Given the description of an element on the screen output the (x, y) to click on. 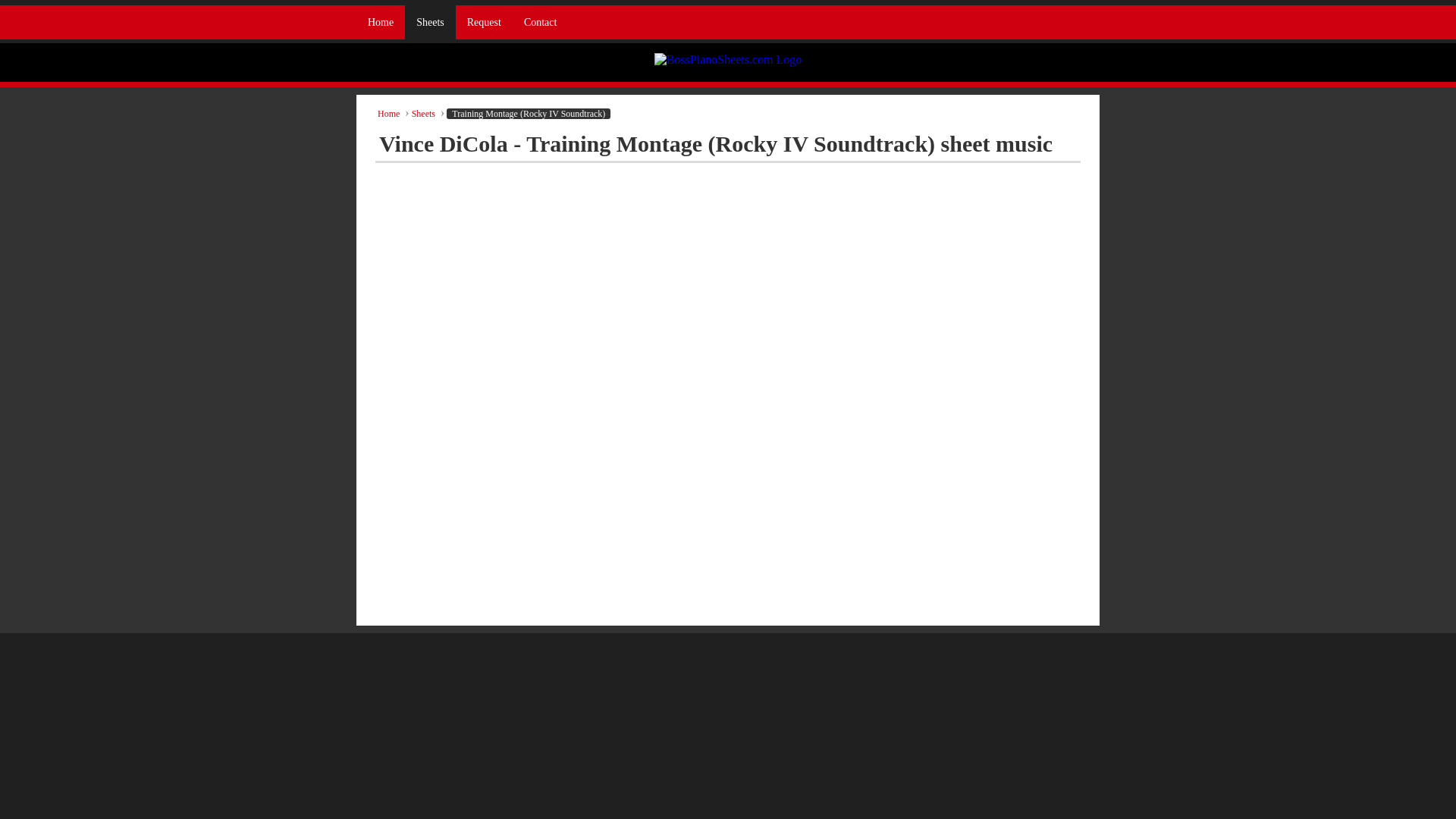
Sheets (423, 113)
Home (387, 113)
Home (380, 21)
Request (483, 21)
Contact (540, 21)
Sheets (429, 21)
